Given the description of an element on the screen output the (x, y) to click on. 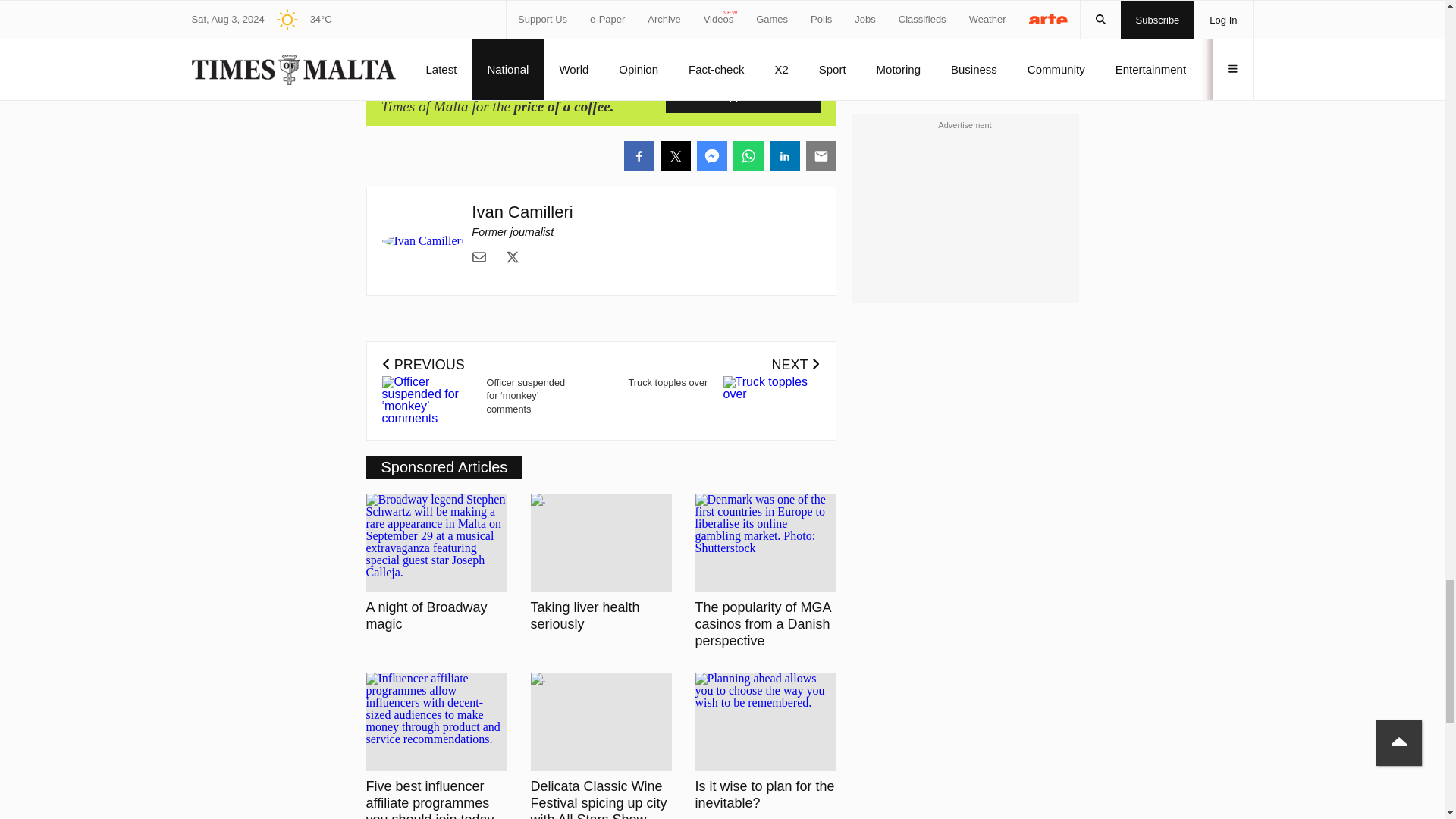
Support Us (743, 95)
Ivan Camilleri (521, 211)
